Given the description of an element on the screen output the (x, y) to click on. 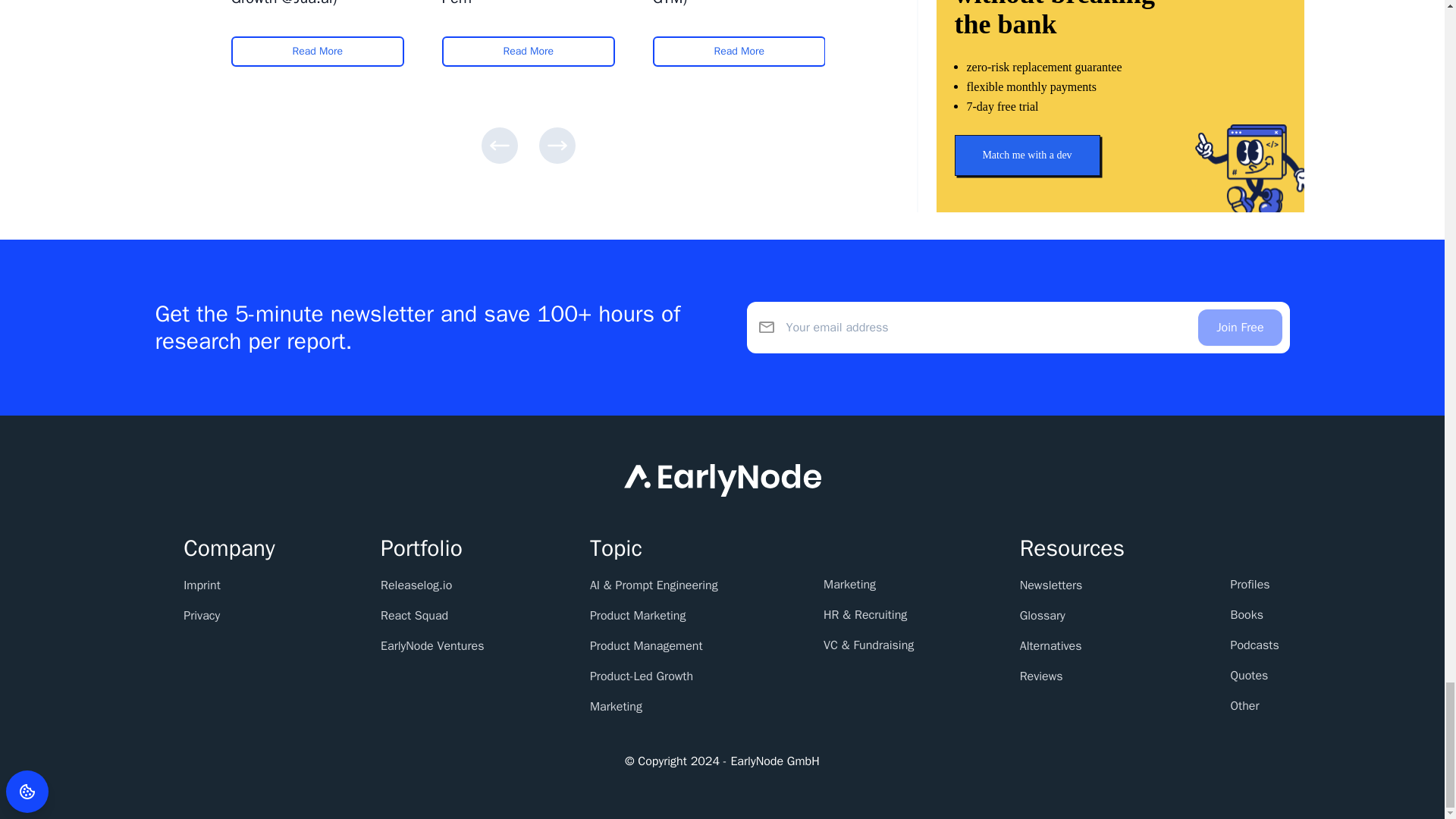
React Squad (414, 615)
Privacy (201, 615)
Imprint (202, 585)
Join Free (1239, 327)
left (498, 145)
Releaselog.io (415, 585)
right (556, 145)
